Given the description of an element on the screen output the (x, y) to click on. 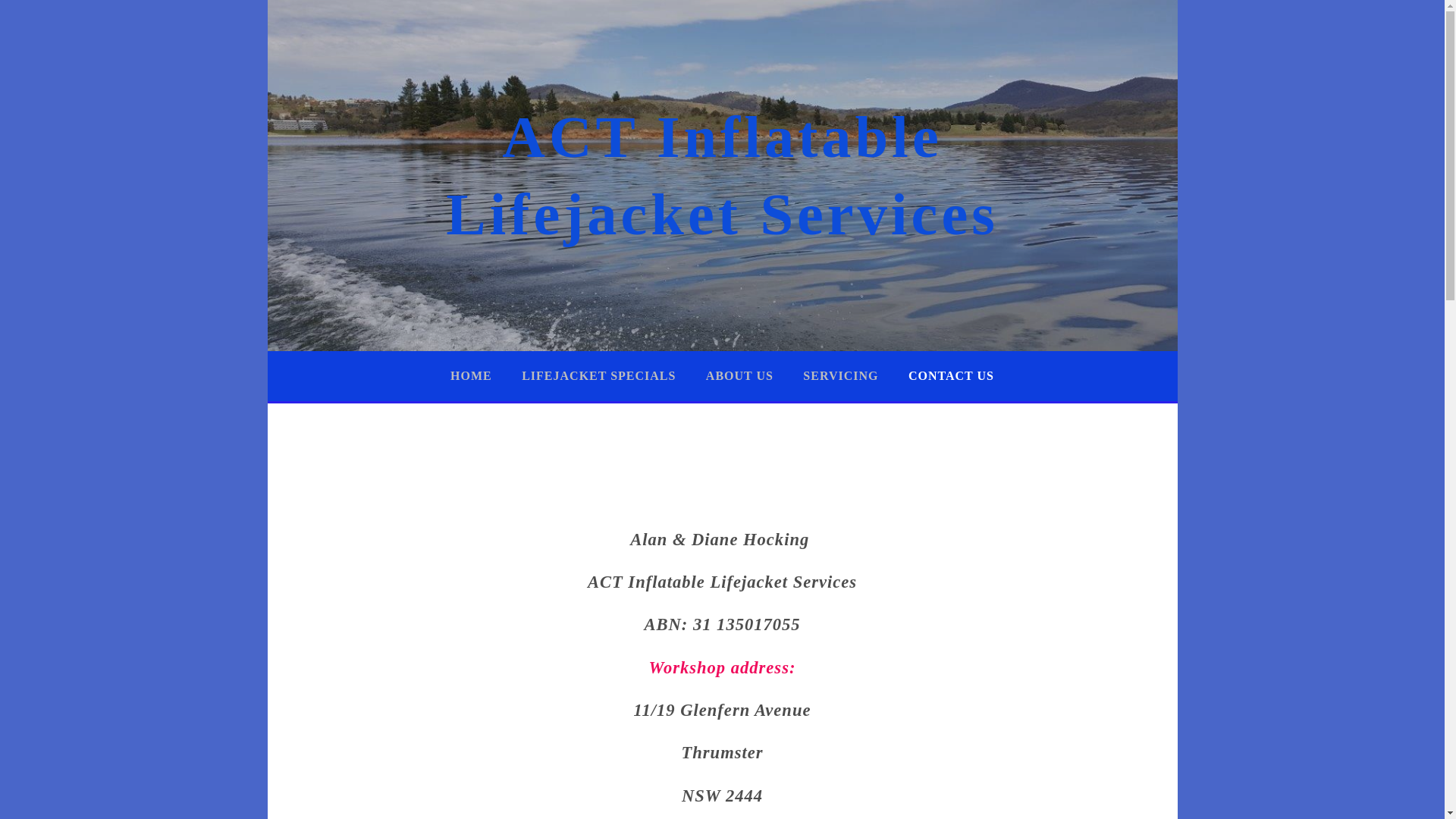
LIFEJACKET SPECIALS Element type: text (598, 375)
ABOUT US Element type: text (739, 375)
HOME Element type: text (471, 375)
ACT Inflatable Lifejacket Services Element type: text (721, 175)
SERVICING Element type: text (840, 375)
CONTACT US Element type: text (951, 375)
ACT Inflatable Lifejacket Services Element type: text (721, 581)
Alan & Diane Hocking  Element type: text (722, 539)
